Given the description of an element on the screen output the (x, y) to click on. 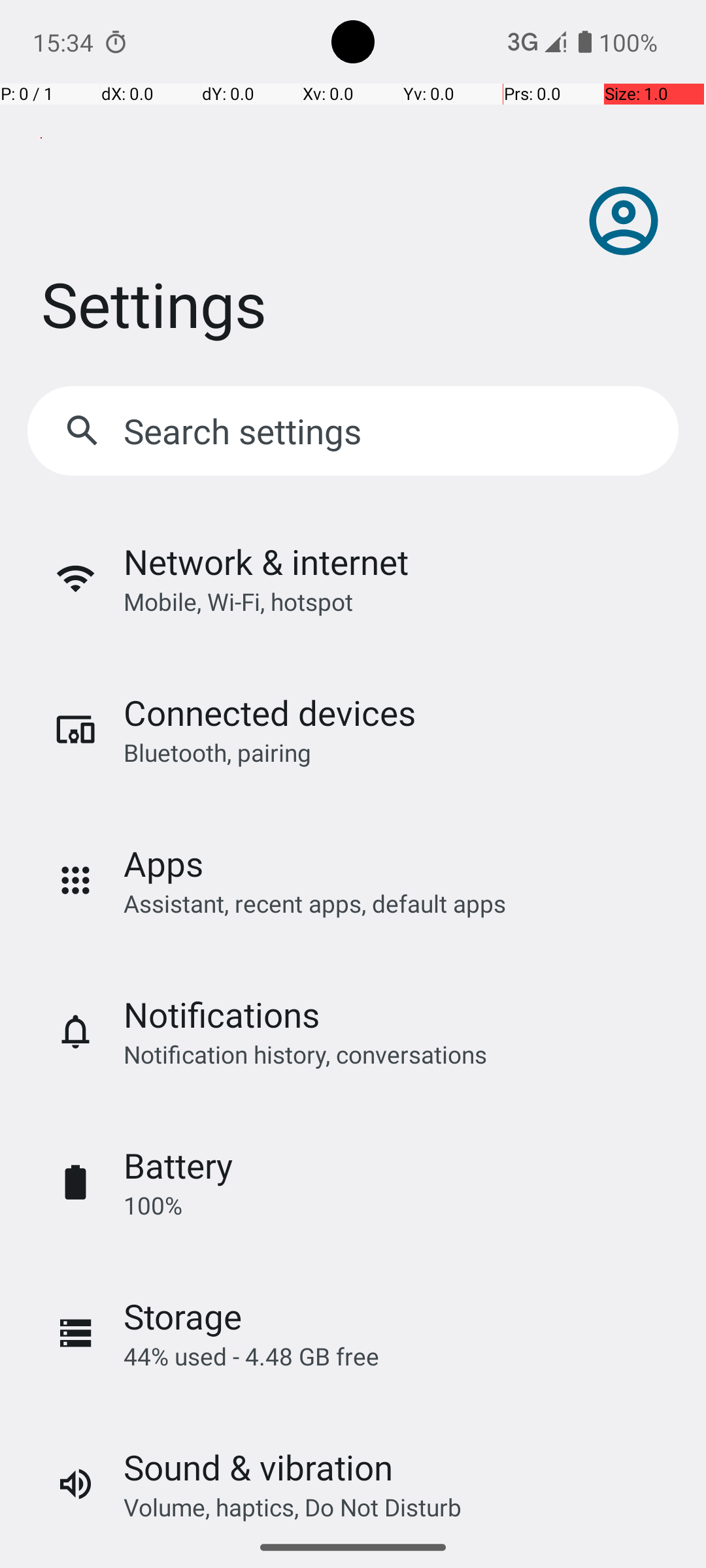
44% used - 4.48 GB free Element type: android.widget.TextView (251, 1355)
